Given the description of an element on the screen output the (x, y) to click on. 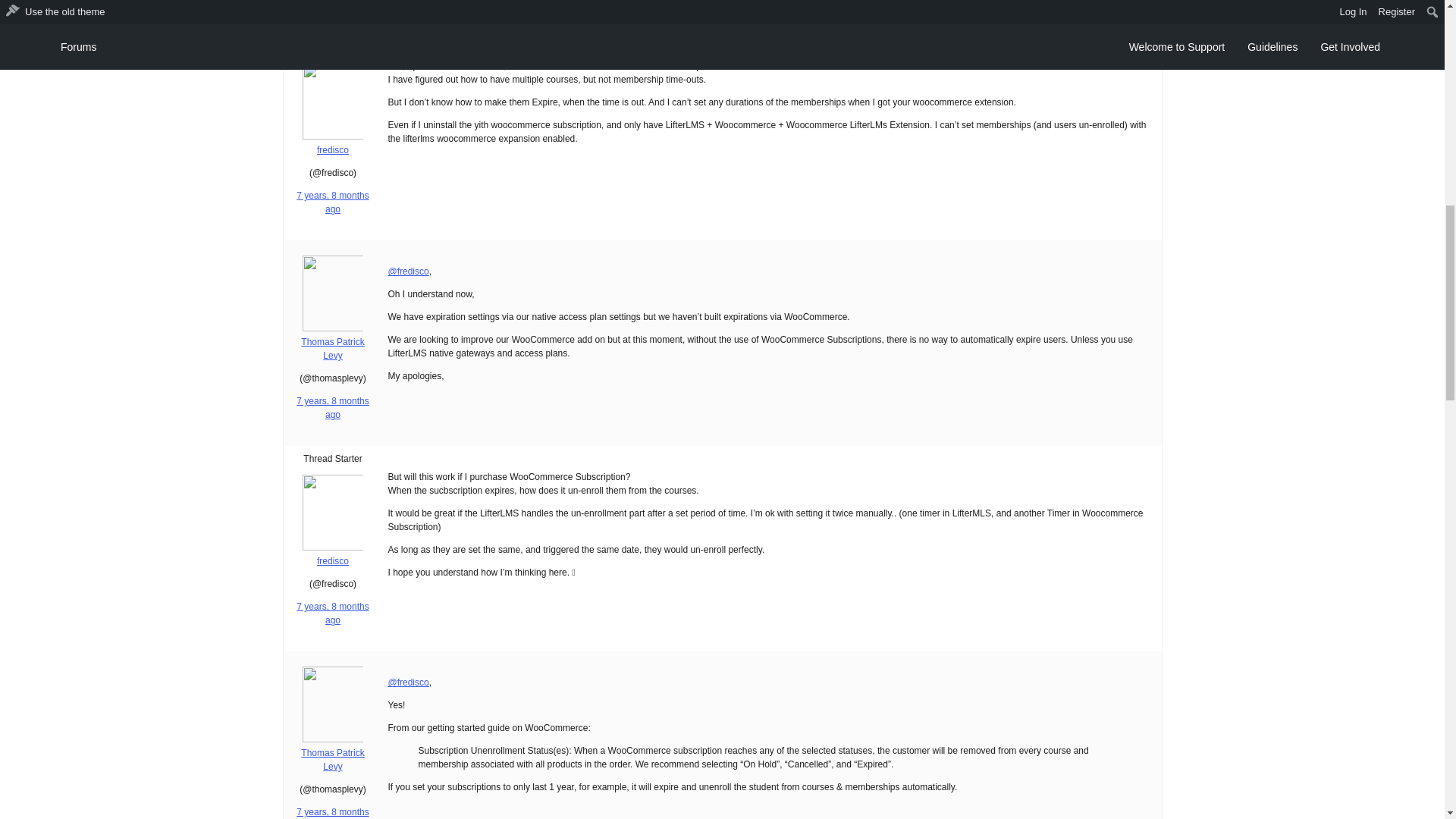
November 23, 2016 at 2:43 am (332, 407)
November 22, 2016 at 12:56 am (332, 4)
View Thomas Patrick Levy's profile (333, 753)
November 23, 2016 at 8:55 am (332, 613)
View fredisco's profile (333, 555)
November 22, 2016 at 1:46 am (332, 202)
This person created the thread (331, 47)
November 24, 2016 at 1:04 am (332, 812)
This person created the thread (331, 458)
View Thomas Patrick Levy's profile (333, 342)
View fredisco's profile (333, 144)
